Given the description of an element on the screen output the (x, y) to click on. 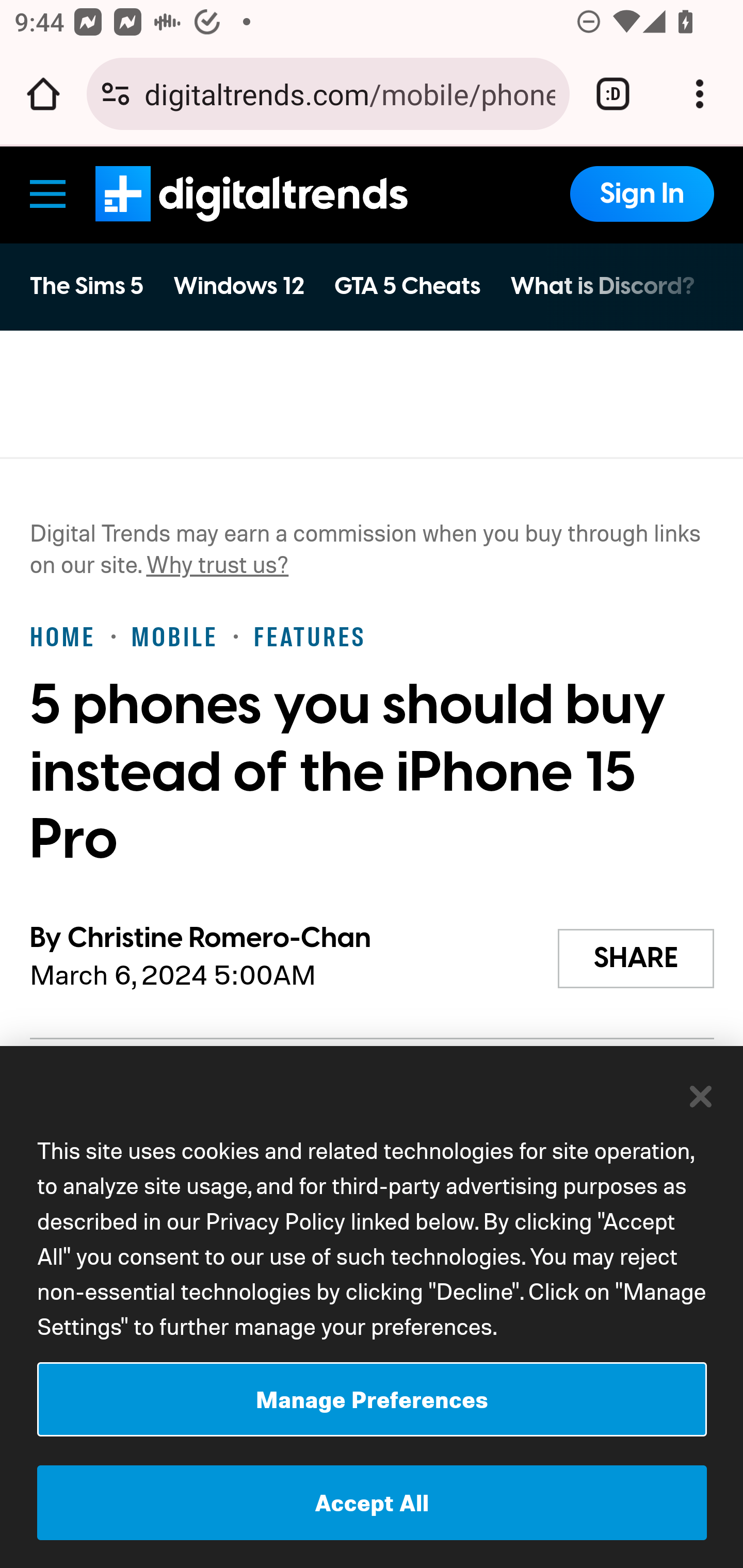
Open the home page (43, 93)
Connection is secure (115, 93)
Switch or close tabs (612, 93)
Customize and control Google Chrome (699, 93)
www.digitaltrends (251, 193)
Sign In (641, 193)
The Sims 5 (86, 286)
Windows 12 (237, 286)
GTA 5 Cheats (407, 286)
What is Discord? (601, 286)
Why trust us? (216, 563)
HOME (62, 635)
MOBILE (174, 635)
FEATURES (309, 635)
SHARE (635, 958)
Close (701, 1095)
Manage Preferences (372, 1399)
Accept All (372, 1502)
